Given the description of an element on the screen output the (x, y) to click on. 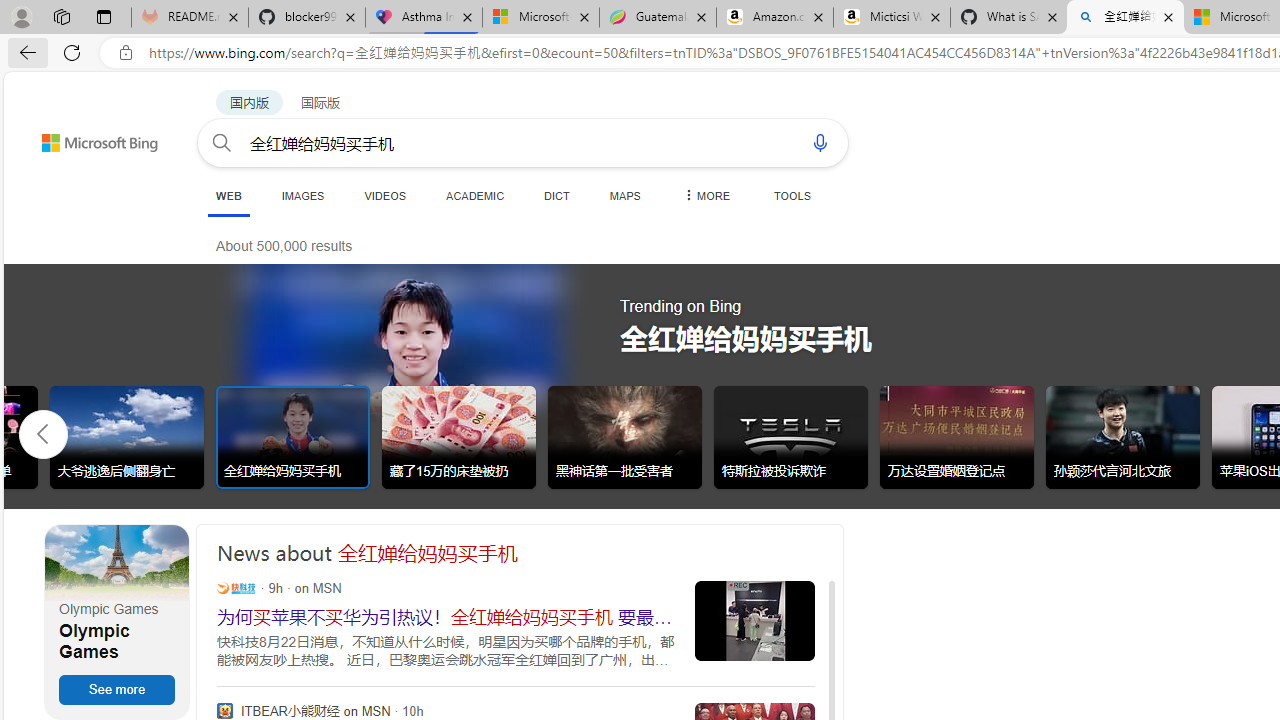
IMAGES (302, 195)
DICT (557, 195)
Search using voice (820, 142)
IMAGES (302, 195)
